Given the description of an element on the screen output the (x, y) to click on. 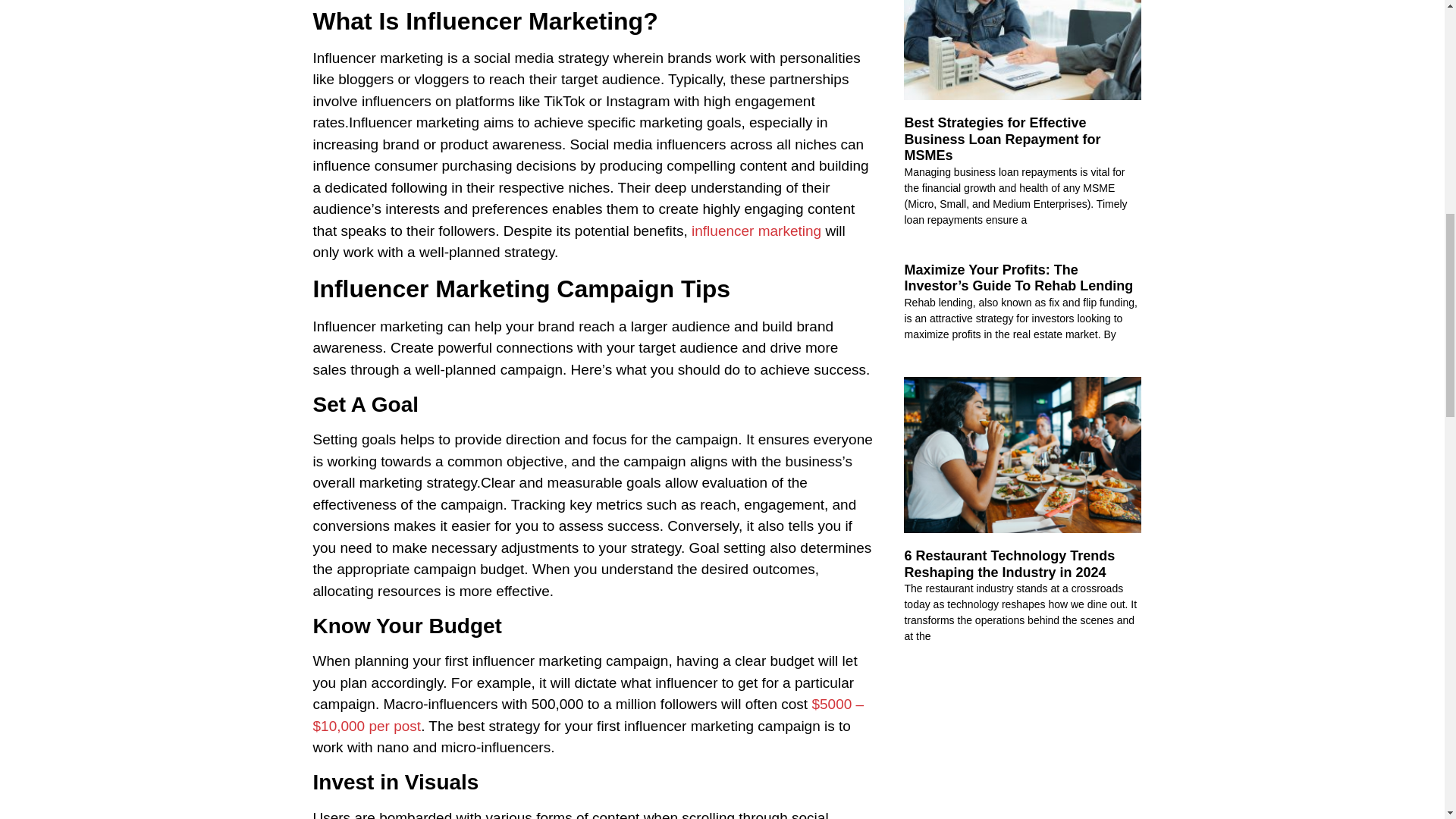
influencer marketing (756, 230)
